Given the description of an element on the screen output the (x, y) to click on. 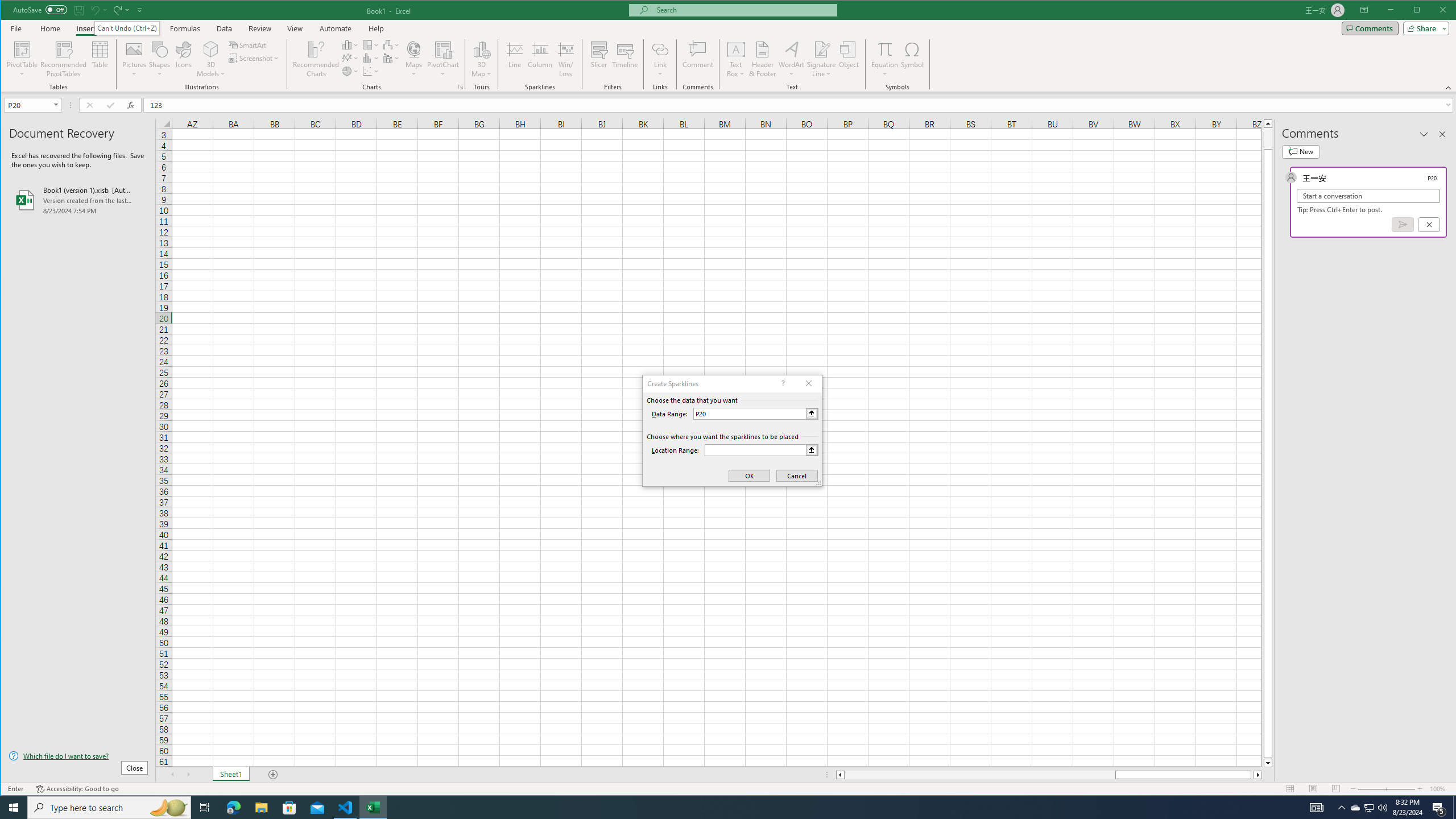
Text Box (735, 59)
Symbol... (912, 59)
Can't Undo (Ctrl+Z) (127, 28)
Header & Footer... (762, 59)
Recommended PivotTables (63, 59)
Pictures (134, 59)
PivotTable (22, 59)
Win/Loss (565, 59)
Equation (884, 48)
Table (100, 59)
